Given the description of an element on the screen output the (x, y) to click on. 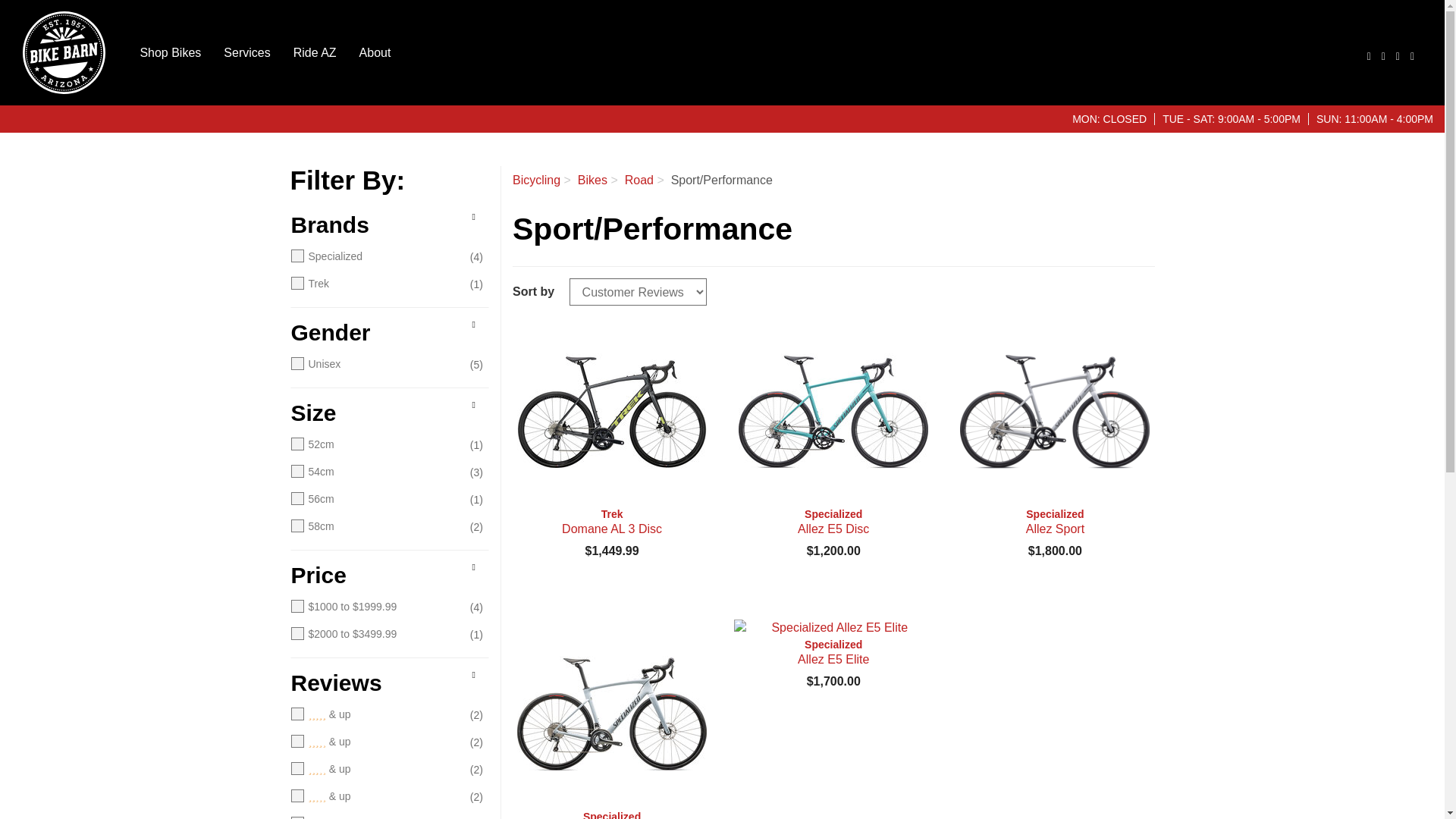
5 (374, 714)
Bike Barn Phoenix Home Page (63, 52)
1 (374, 817)
Services (246, 52)
Ride AZ (314, 52)
2 (374, 796)
Shop Bikes (170, 52)
3 (374, 769)
4 (374, 742)
About (375, 52)
